Given the description of an element on the screen output the (x, y) to click on. 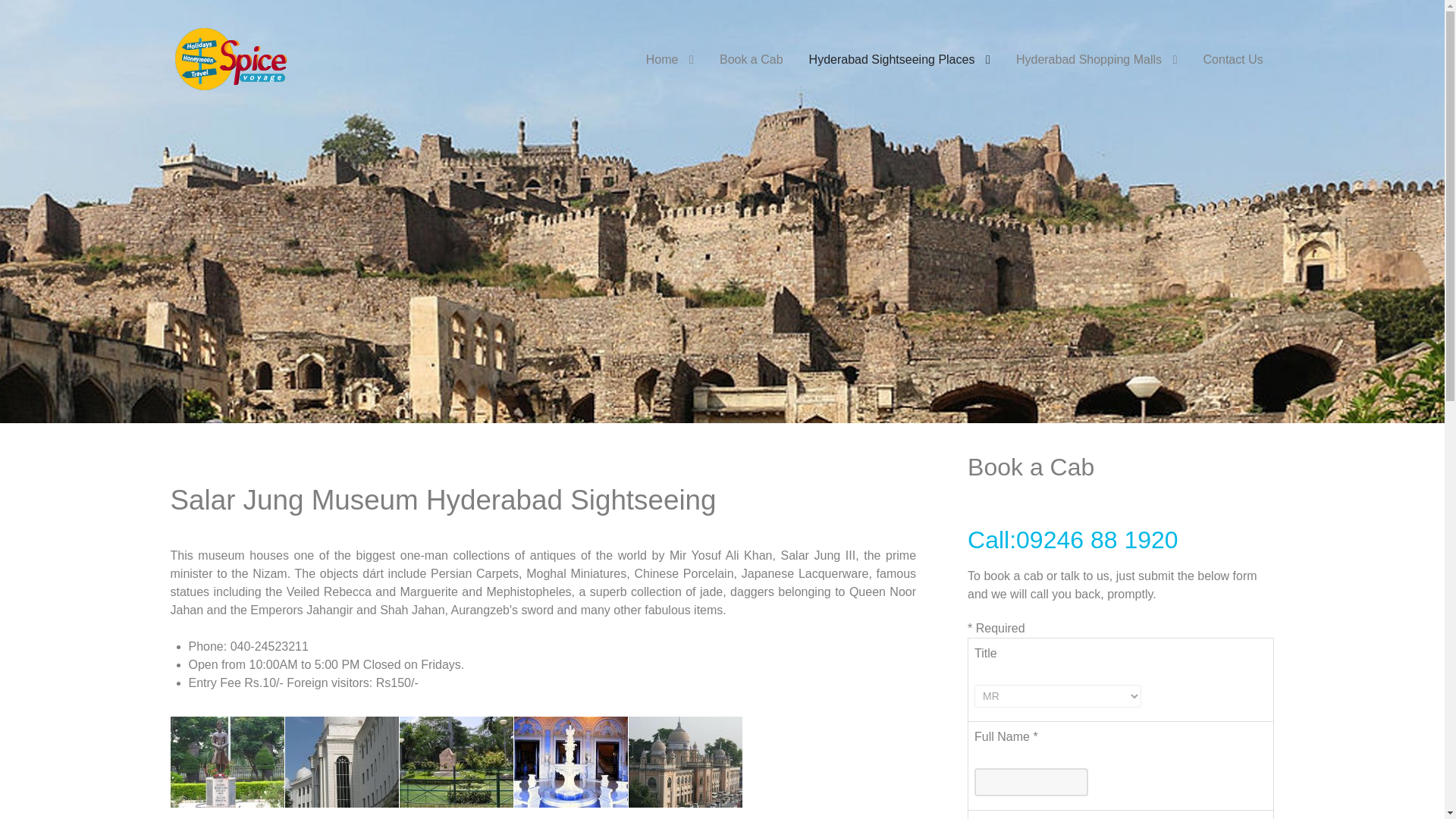
Book a Cab (750, 59)
Home (669, 59)
